Given the description of an element on the screen output the (x, y) to click on. 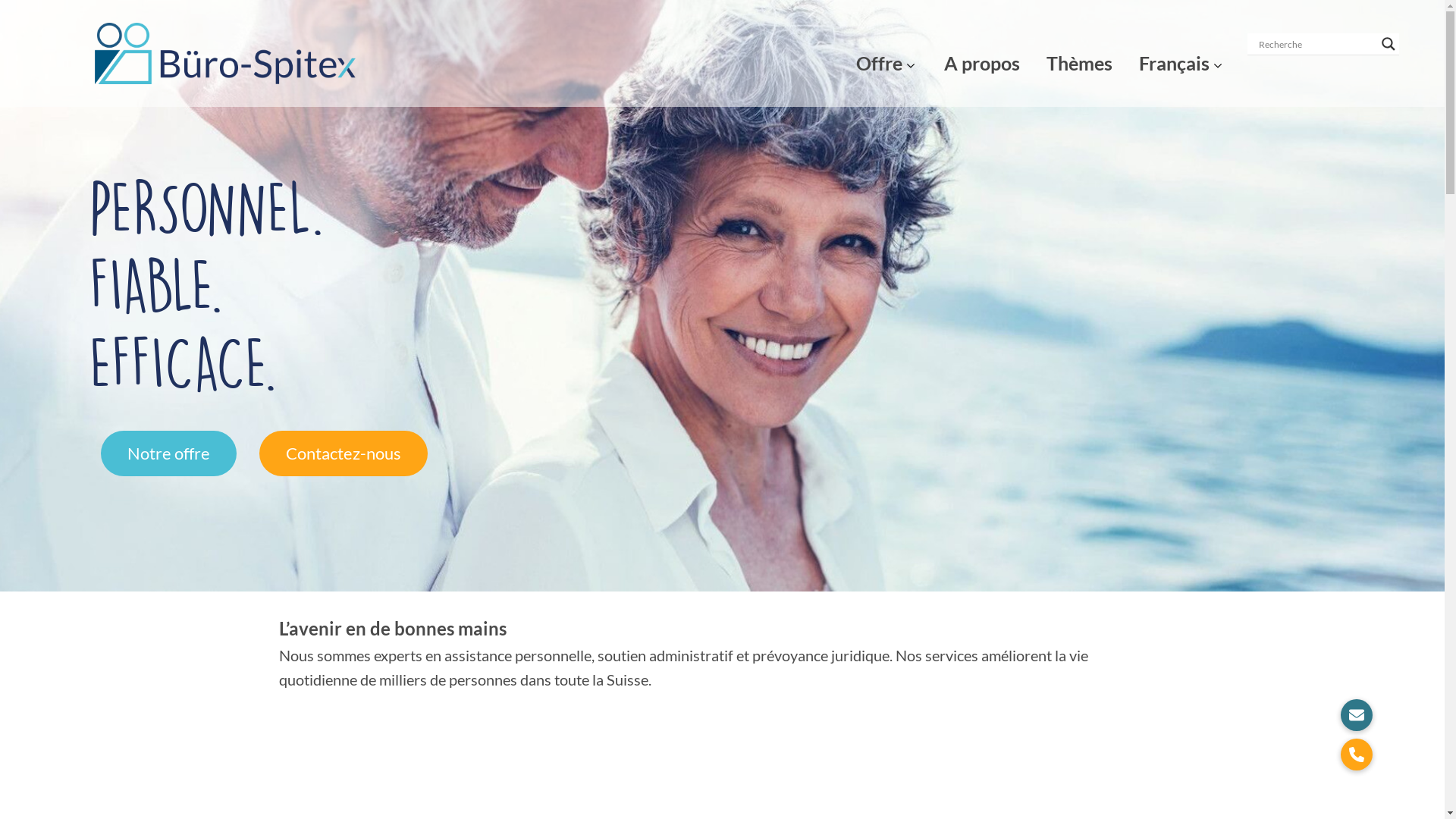
Notre offre Element type: text (167, 453)
A propos Element type: text (981, 53)
Offre Element type: text (879, 53)
Contactez-nous Element type: text (343, 453)
